Given the description of an element on the screen output the (x, y) to click on. 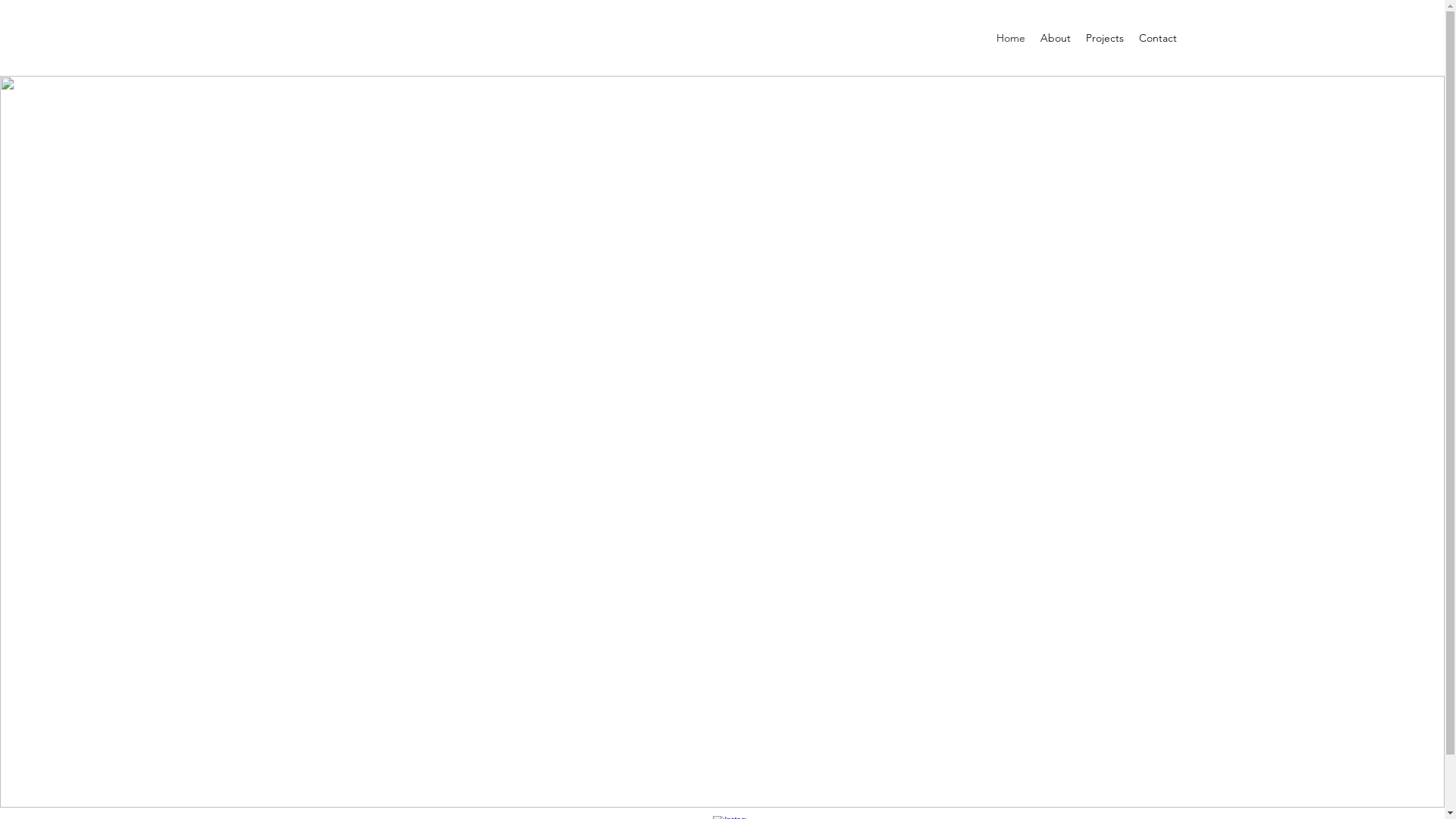
Contact Element type: text (1157, 37)
ECOAST Element type: text (722, 381)
Projects Element type: text (1104, 37)
About Element type: text (1055, 37)
Home Element type: text (1010, 37)
